Given the description of an element on the screen output the (x, y) to click on. 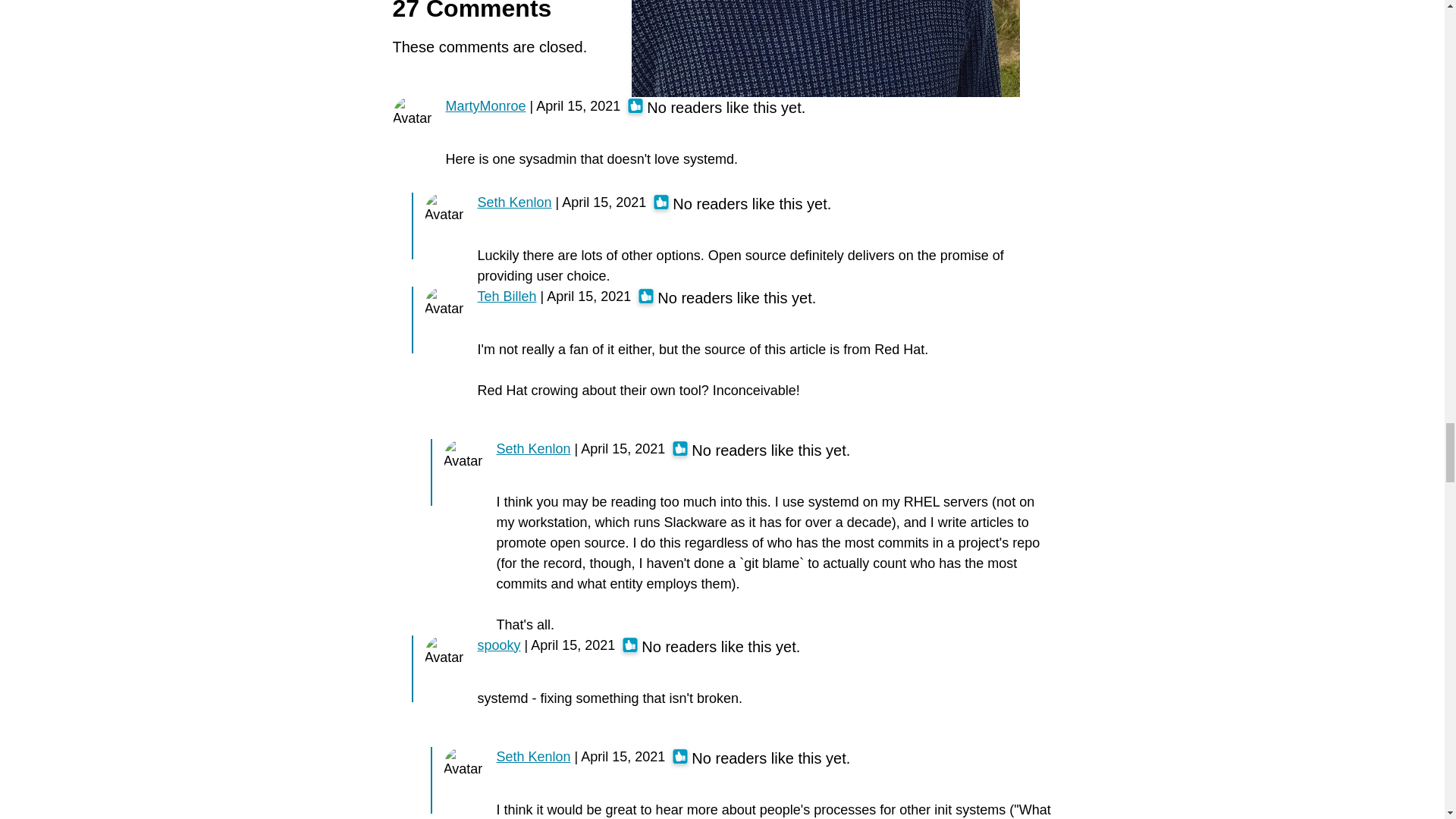
Avatar (412, 112)
Avatar (461, 762)
Avatar (444, 208)
Avatar (461, 454)
Avatar (444, 651)
Avatar (444, 302)
